Given the description of an element on the screen output the (x, y) to click on. 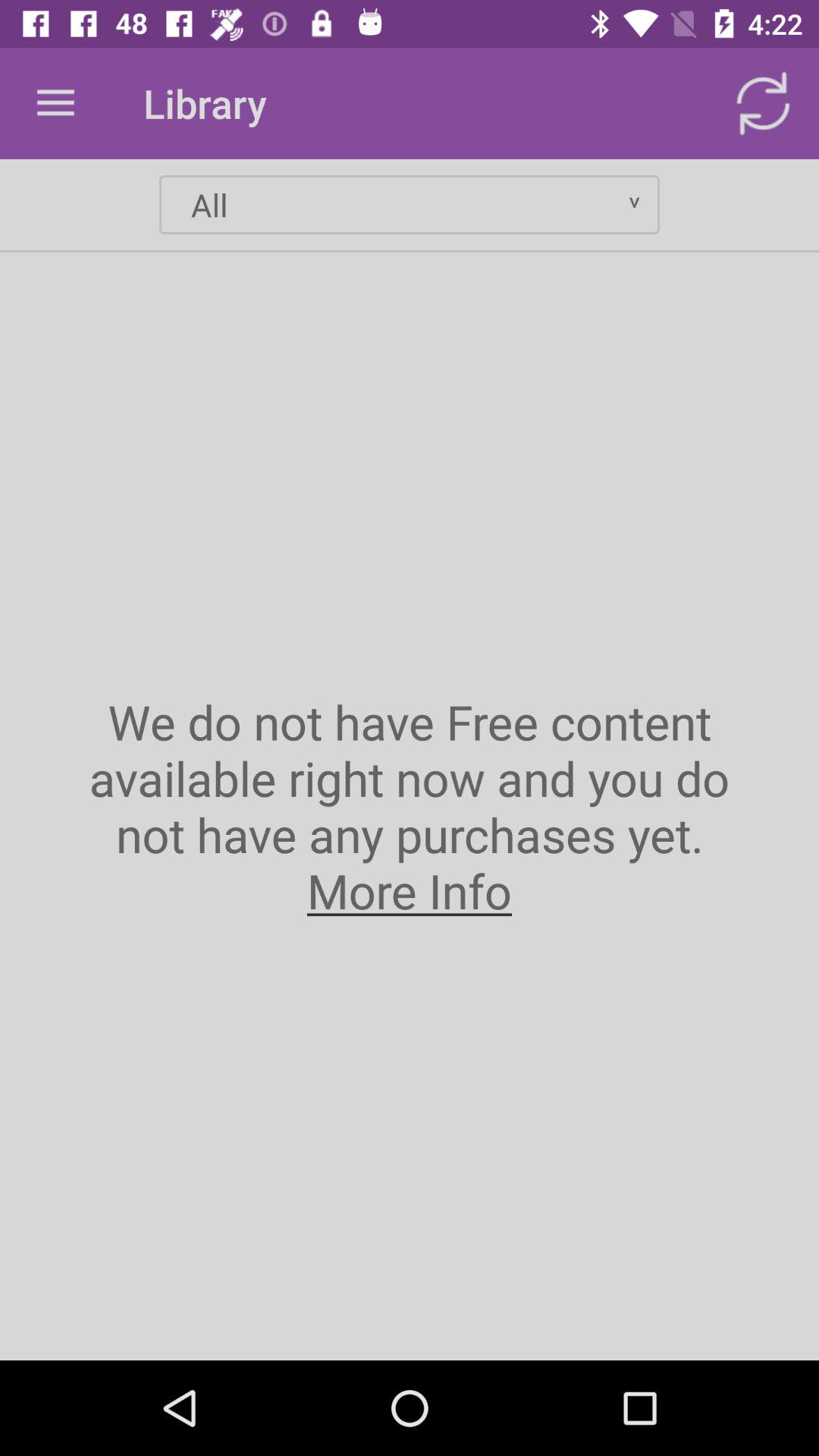
flip until the we do not item (409, 805)
